Given the description of an element on the screen output the (x, y) to click on. 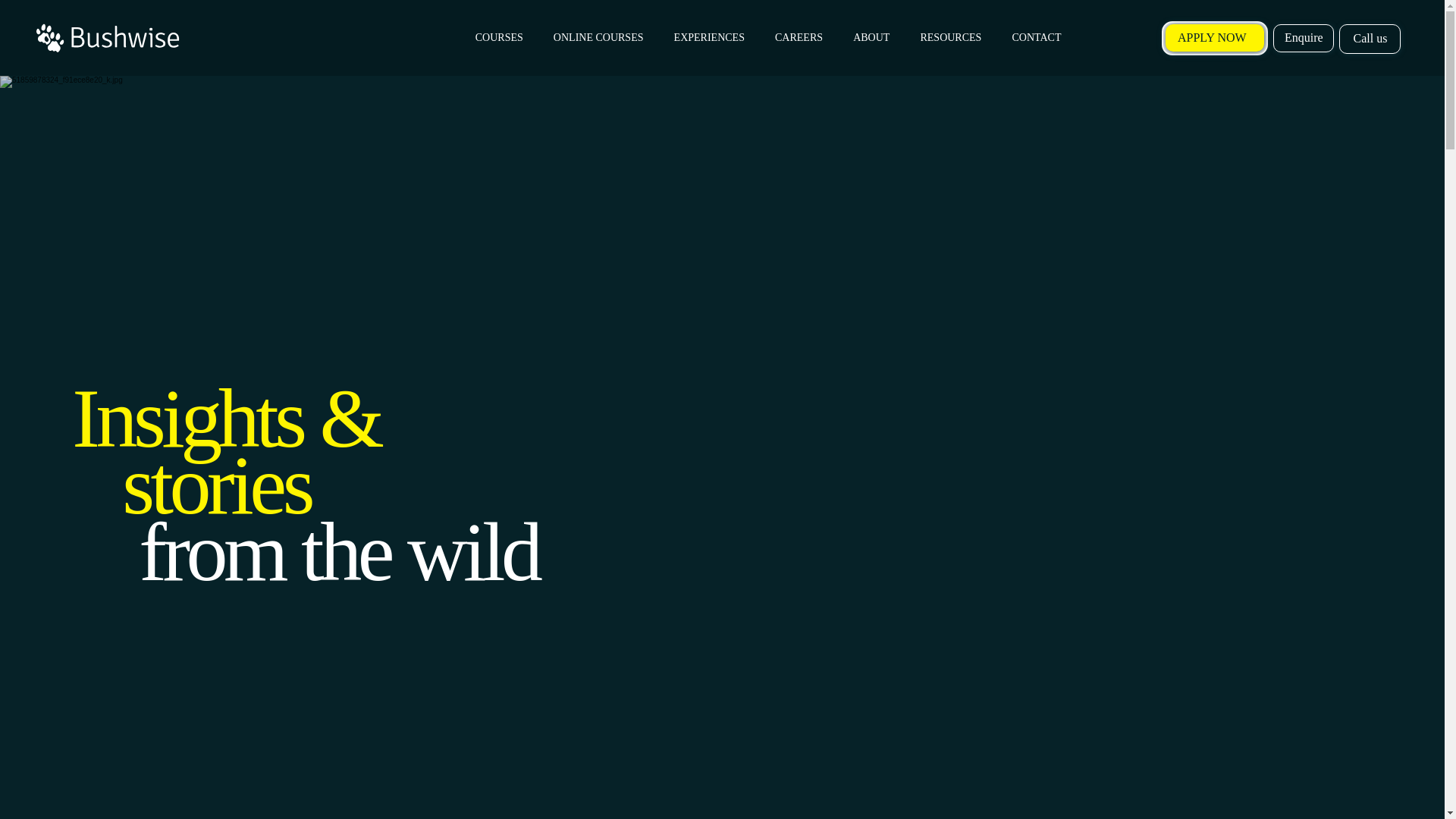
COURSES (499, 38)
CONTACT (1035, 38)
ONLINE COURSES (598, 38)
Enquire (1302, 38)
APPLY NOW (1214, 37)
Call us (1369, 39)
